Given the description of an element on the screen output the (x, y) to click on. 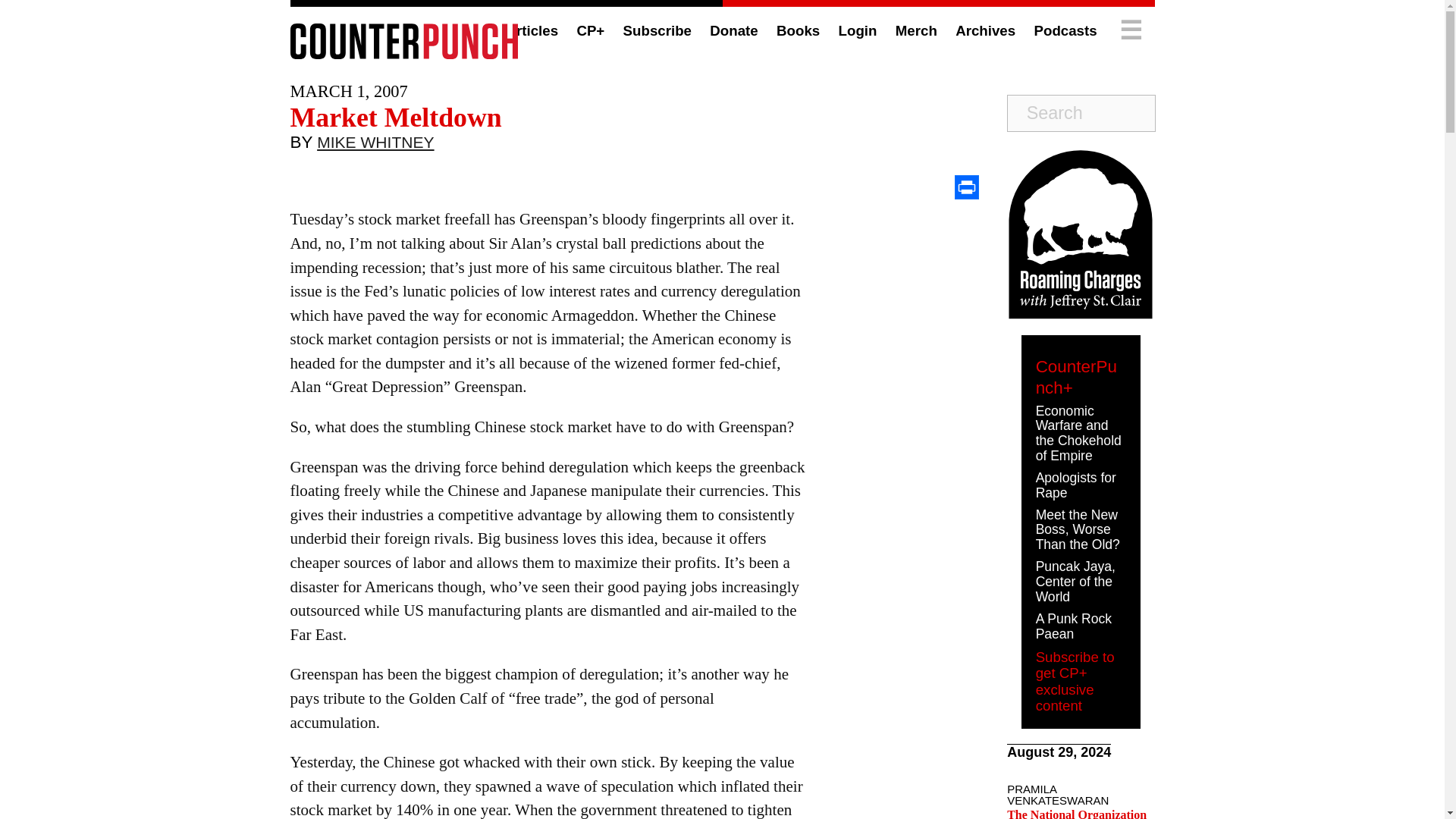
Archives (984, 30)
Subscribe (657, 30)
Meet the New Boss, Worse Than the Old? (1077, 529)
Articles (531, 30)
Login (857, 30)
Donate (733, 30)
Books (797, 30)
Podcasts (1064, 30)
Apologists for Rape (1075, 485)
A Punk Rock Paean (1073, 625)
